Given the description of an element on the screen output the (x, y) to click on. 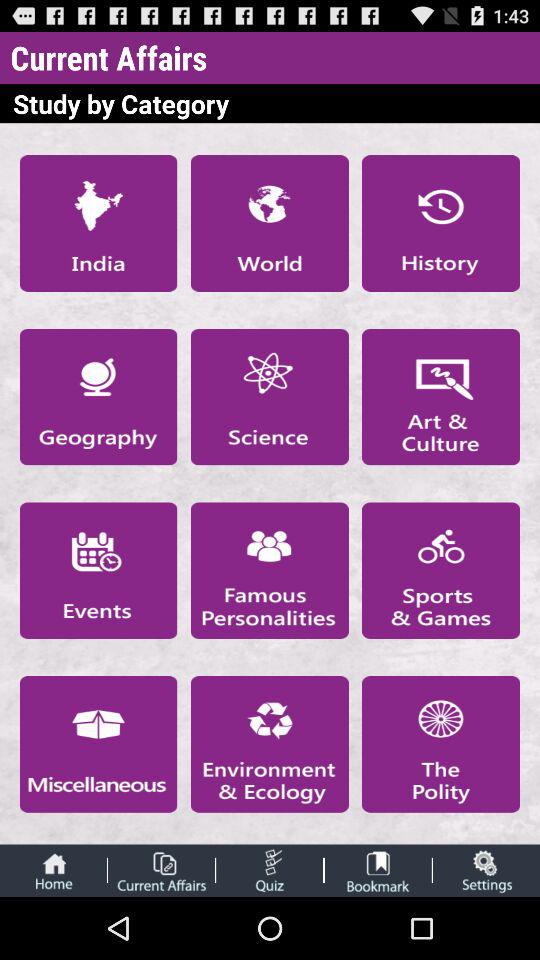
view famous personalities (269, 570)
